Given the description of an element on the screen output the (x, y) to click on. 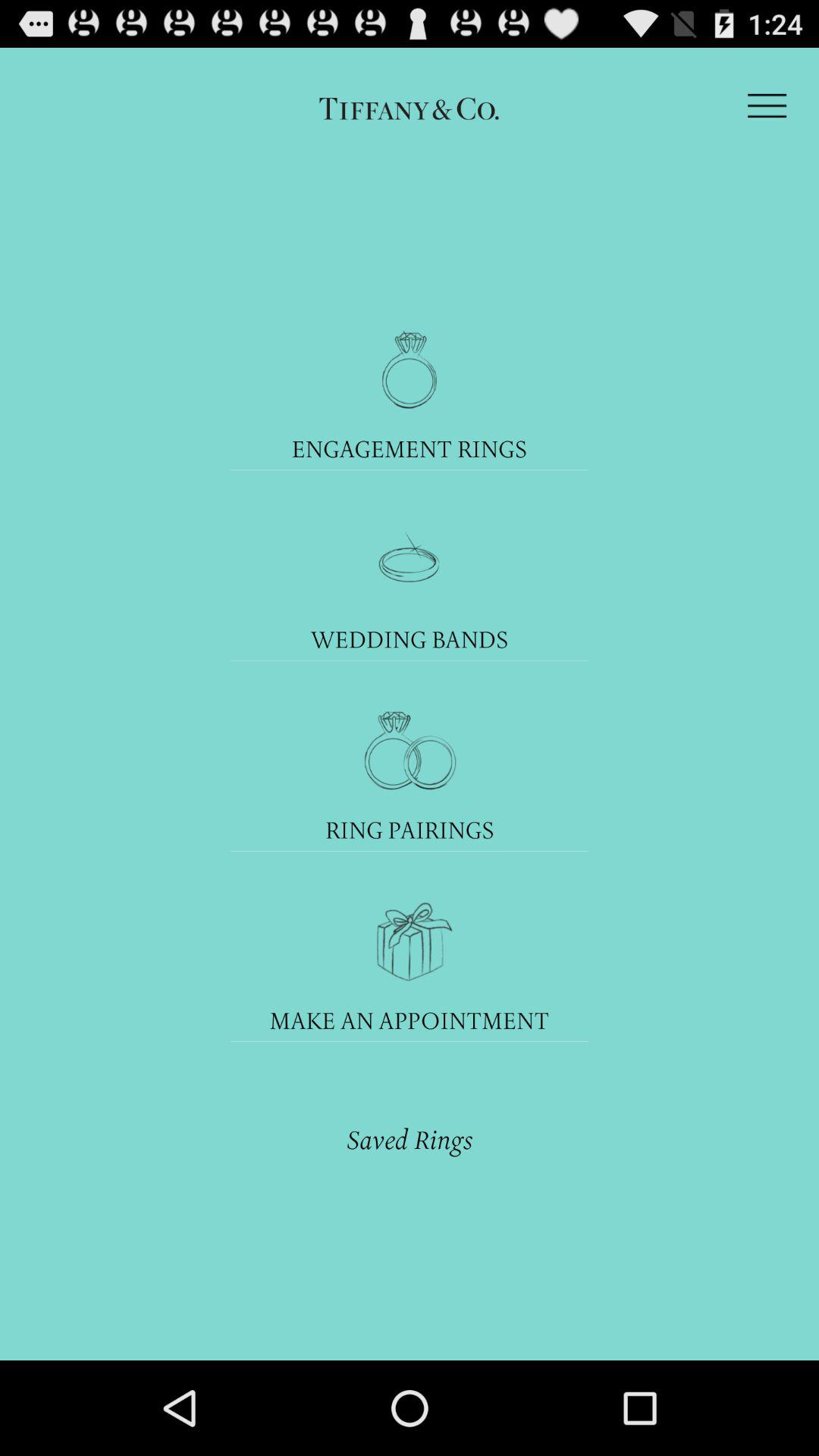
choose make an appointment icon (409, 1020)
